Given the description of an element on the screen output the (x, y) to click on. 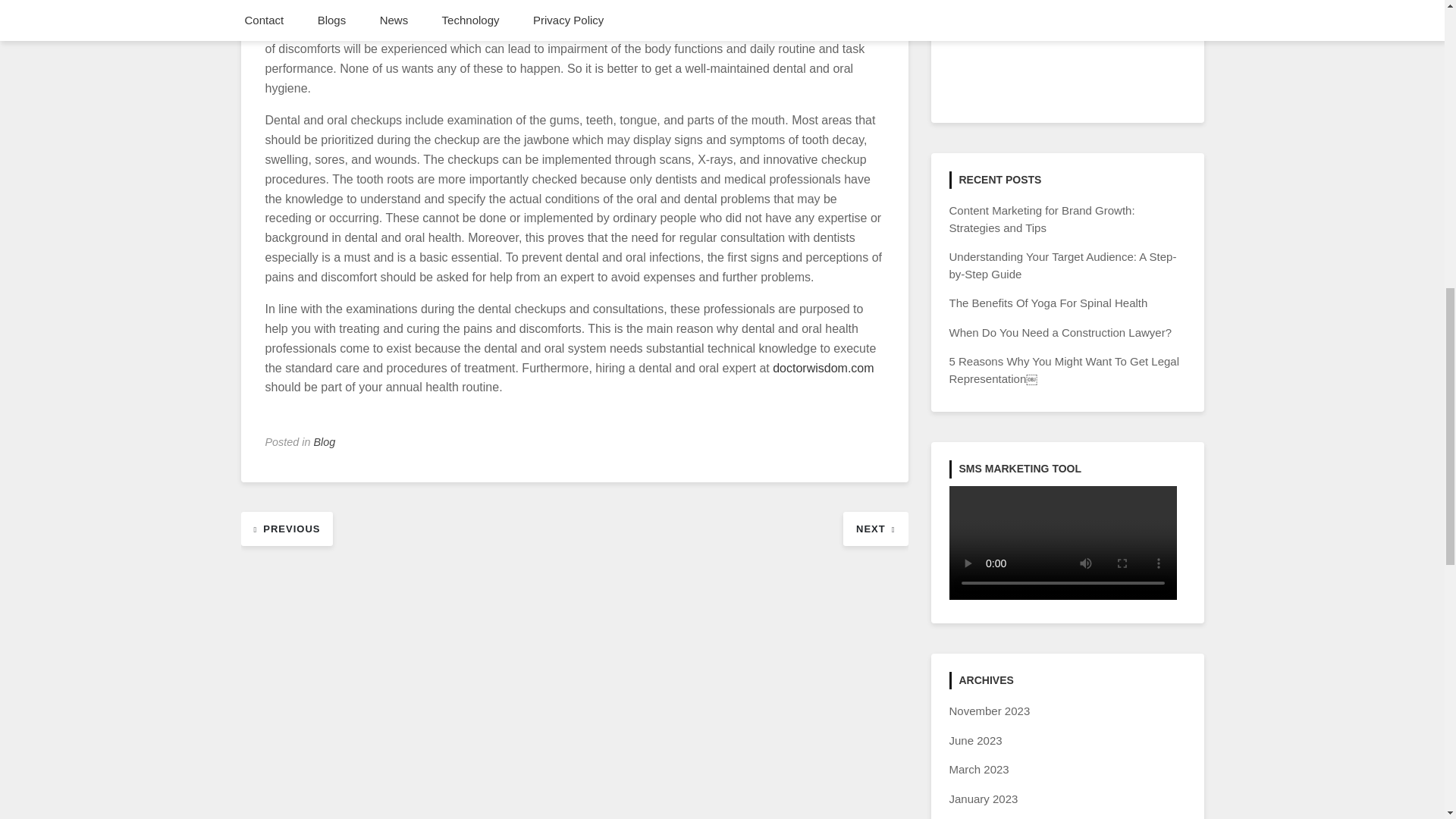
November 2023 (989, 710)
The Benefits Of Yoga For Spinal Health (1048, 302)
PREVIOUS (287, 527)
When Do You Need a Construction Lawyer? (1060, 332)
June 2023 (976, 739)
March 2023 (979, 768)
NEXT (875, 527)
Content Marketing for Brand Growth: Strategies and Tips (1042, 218)
January 2023 (983, 798)
Blog (325, 441)
doctorwisdom.com (823, 367)
Understanding Your Target Audience: A Step-by-Step Guide (1062, 265)
